Given the description of an element on the screen output the (x, y) to click on. 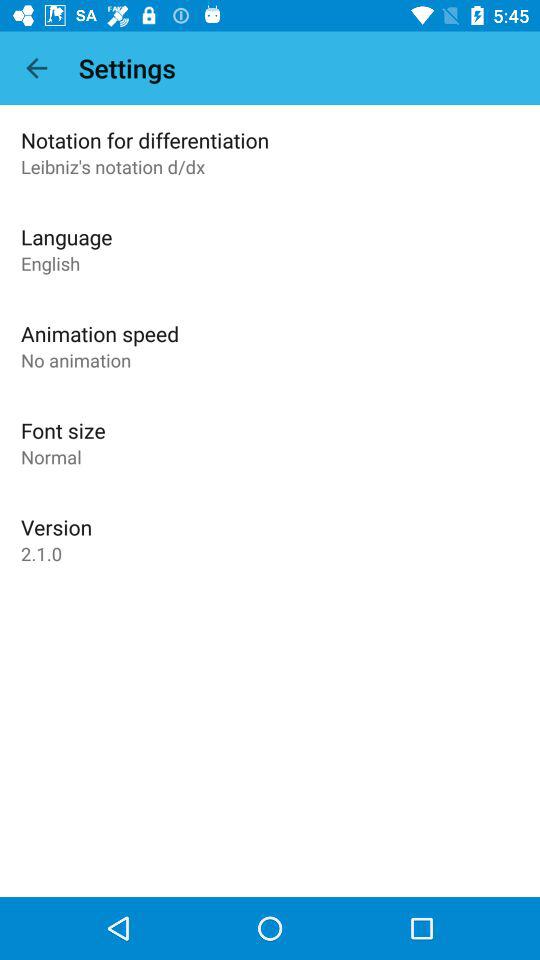
click icon above notation for differentiation app (36, 68)
